Given the description of an element on the screen output the (x, y) to click on. 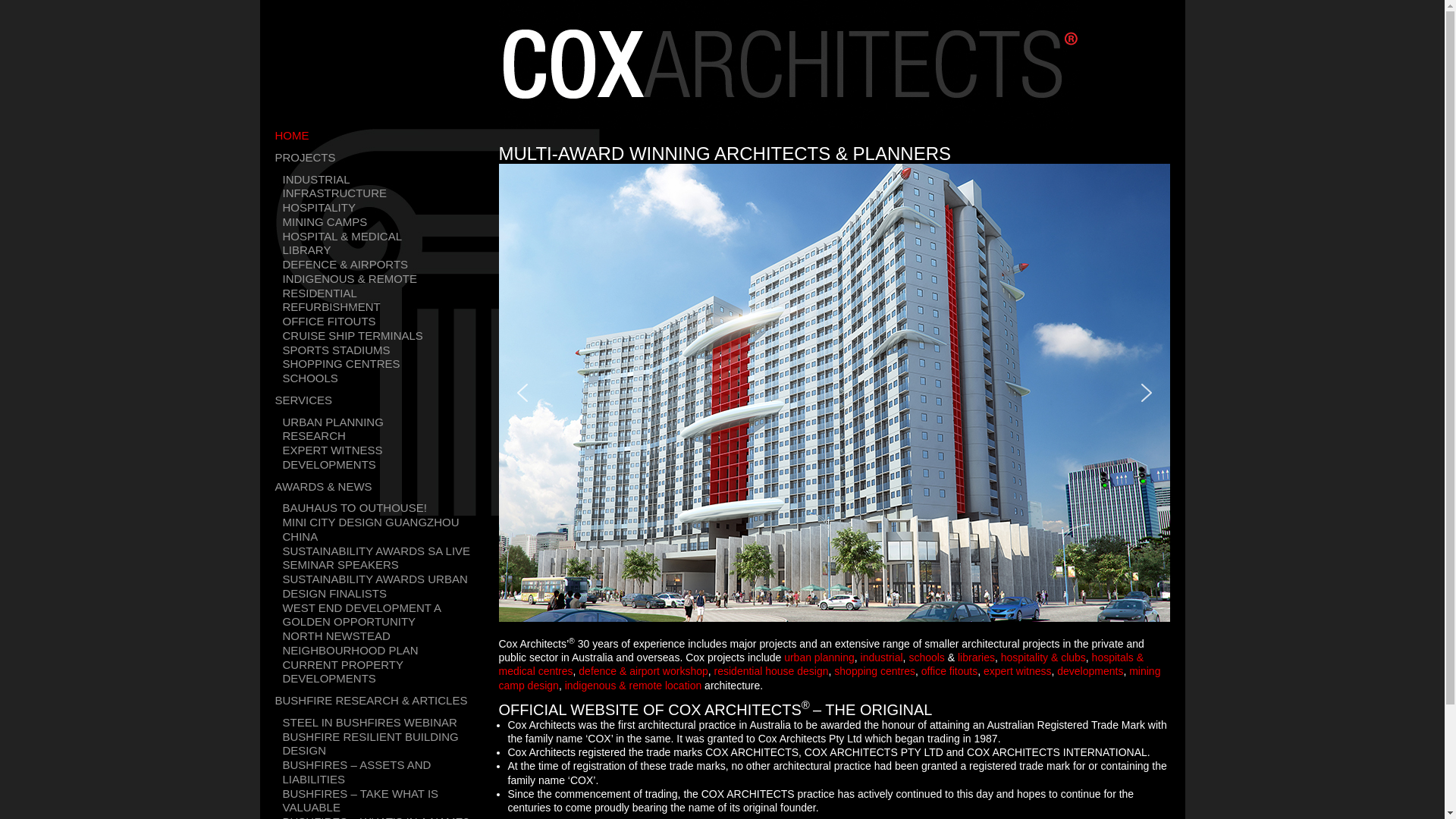
CRUISE SHIP TERMINALS Element type: text (352, 336)
schools Element type: text (926, 657)
residential house design Element type: text (771, 671)
office fitouts Element type: text (949, 671)
EXPERT WITNESS Element type: text (332, 450)
INDUSTRIAL Element type: text (315, 179)
developments Element type: text (1090, 671)
INDIGENOUS & REMOTE Element type: text (349, 279)
SERVICES Element type: text (303, 400)
industrial Element type: text (881, 657)
DEVELOPMENTS Element type: text (328, 465)
INFRASTRUCTURE Element type: text (334, 193)
STEEL IN BUSHFIRES WEBINAR Element type: text (369, 722)
HOSPITAL & MEDICAL Element type: text (341, 236)
defence & airport workshop Element type: text (642, 671)
expert witness Element type: text (1017, 671)
REFURBISHMENT Element type: text (330, 307)
MINING CAMPS Element type: text (324, 222)
DEFENCE & AIRPORTS Element type: text (344, 264)
HOME Element type: text (291, 135)
RESEARCH Element type: text (313, 436)
SHOPPING CENTRES Element type: text (340, 364)
urban planning Element type: text (819, 657)
BUSHFIRE RESILIENT BUILDING DESIGN Element type: text (386, 743)
hospitality & clubs Element type: text (1043, 657)
hospitals & medical centres Element type: text (821, 664)
SPORTS STADIUMS Element type: text (335, 349)
HOSPITALITY Element type: text (318, 207)
MINI CITY DESIGN GUANGZHOU CHINA Element type: text (386, 529)
BAUHAUS TO OUTHOUSE! Element type: text (354, 508)
BUSHFIRE RESEARCH & ARTICLES Element type: text (370, 700)
libraries Element type: text (975, 657)
SCHOOLS Element type: text (309, 378)
NORTH NEWSTEAD NEIGHBOURHOOD PLAN Element type: text (386, 643)
OFFICE FITOUTS Element type: text (328, 321)
PROJECTS Element type: text (304, 157)
URBAN PLANNING Element type: text (332, 422)
SUSTAINABILITY AWARDS URBAN DESIGN FINALISTS Element type: text (386, 586)
AWARDS & NEWS Element type: text (322, 486)
LIBRARY Element type: text (306, 250)
RESIDENTIAL Element type: text (319, 293)
mining camp design Element type: text (829, 677)
indigenous & remote location Element type: text (633, 685)
SUSTAINABILITY AWARDS SA LIVE SEMINAR SPEAKERS Element type: text (386, 558)
CURRENT PROPERTY DEVELOPMENTS Element type: text (386, 672)
shopping centres Element type: text (874, 671)
WEST END DEVELOPMENT A GOLDEN OPPORTUNITY Element type: text (386, 614)
